Given the description of an element on the screen output the (x, y) to click on. 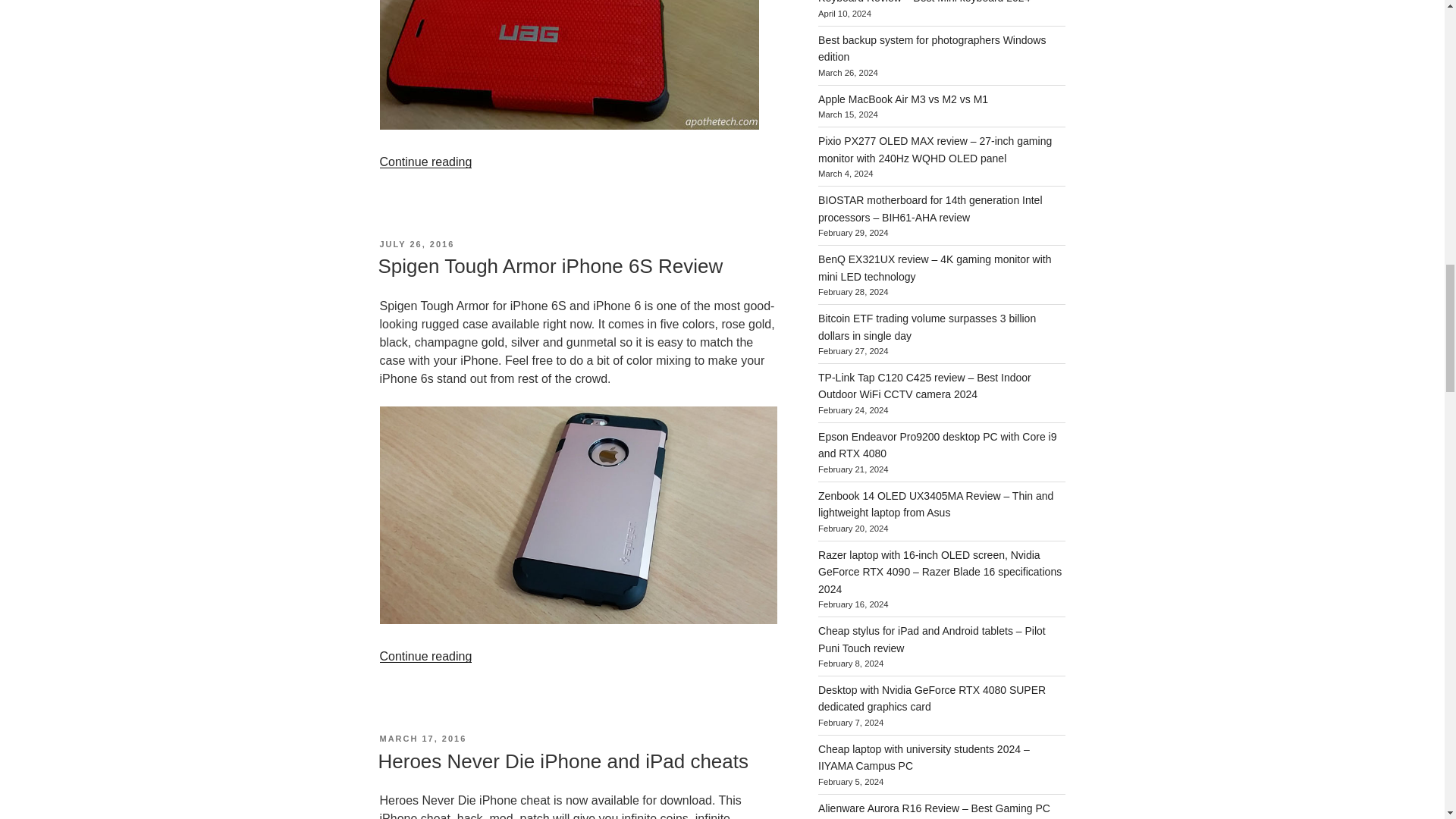
JULY 26, 2016 (416, 243)
Spigen Tough Armor iPhone 6S Review (549, 265)
MARCH 17, 2016 (421, 737)
Heroes Never Die iPhone and iPad cheats (562, 761)
